Given the description of an element on the screen output the (x, y) to click on. 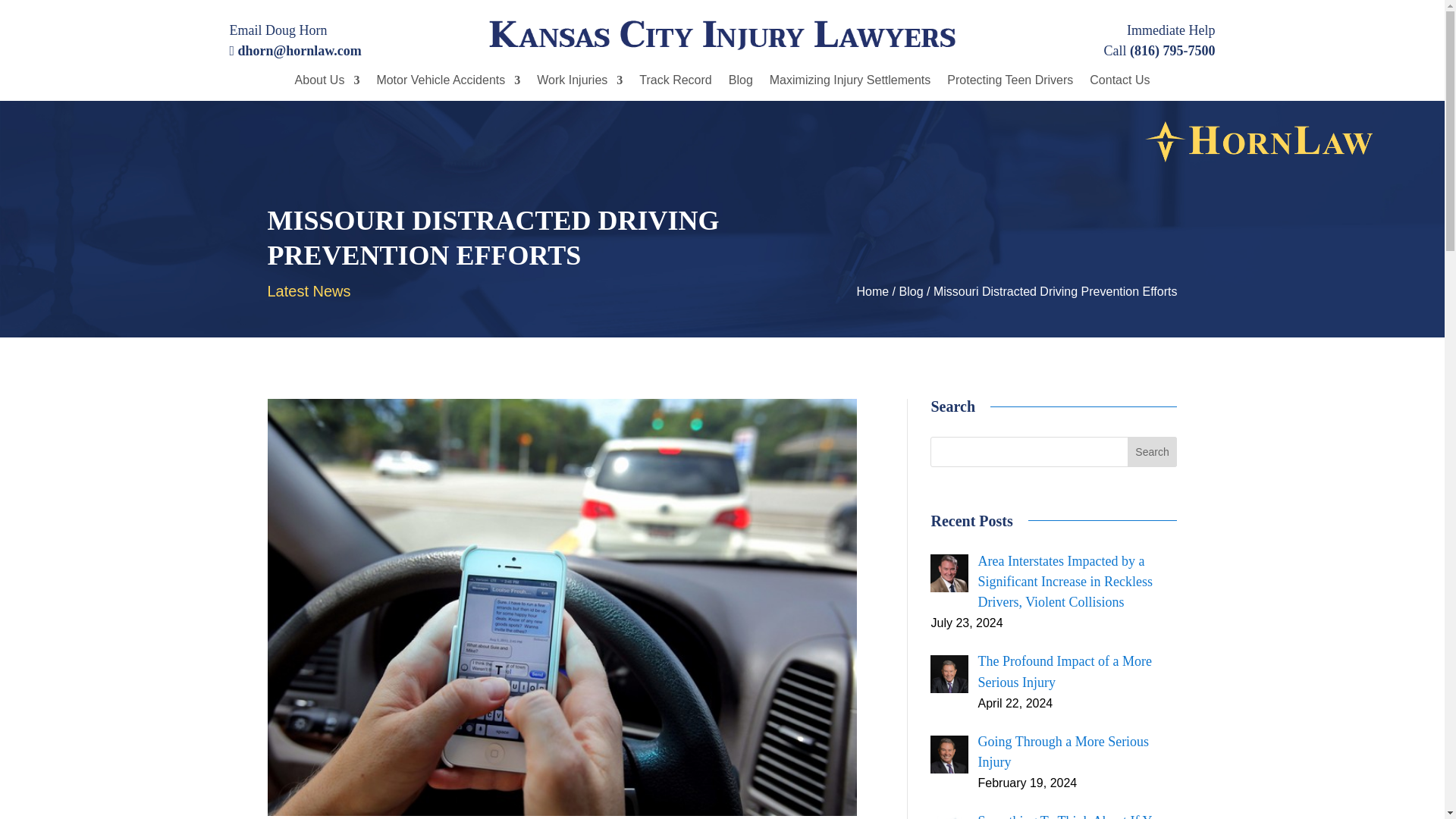
Maximizing Injury Settlements (850, 87)
Track Record (675, 87)
Protecting Teen Drivers (1010, 87)
Contact Us (1119, 87)
Motor Vehicle Accidents (447, 87)
About Us (327, 87)
Work Injuries (580, 87)
Blog (740, 87)
Kansas-City-Injury-Lawyers-LOGO (722, 34)
Yellow-logo (1258, 141)
Search (1151, 451)
